Given the description of an element on the screen output the (x, y) to click on. 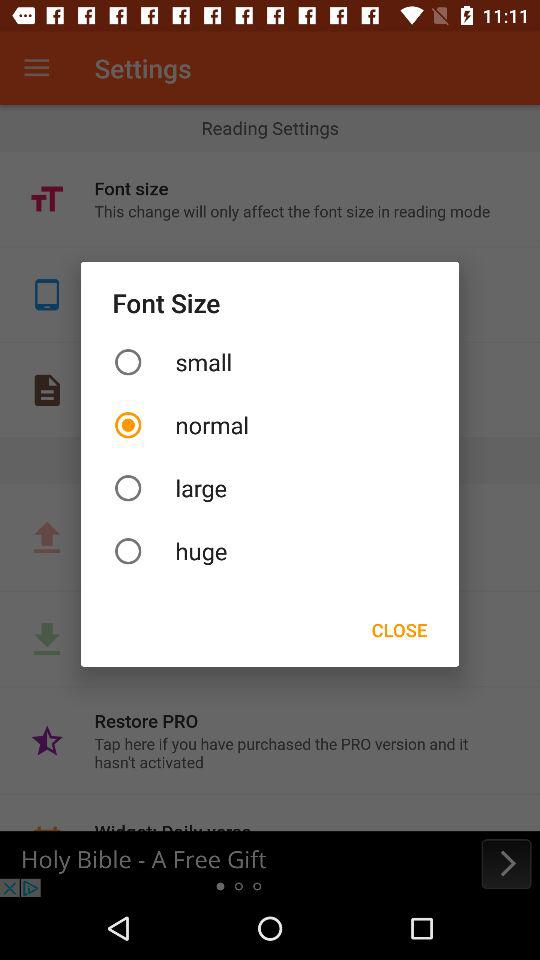
launch the close item (399, 629)
